Given the description of an element on the screen output the (x, y) to click on. 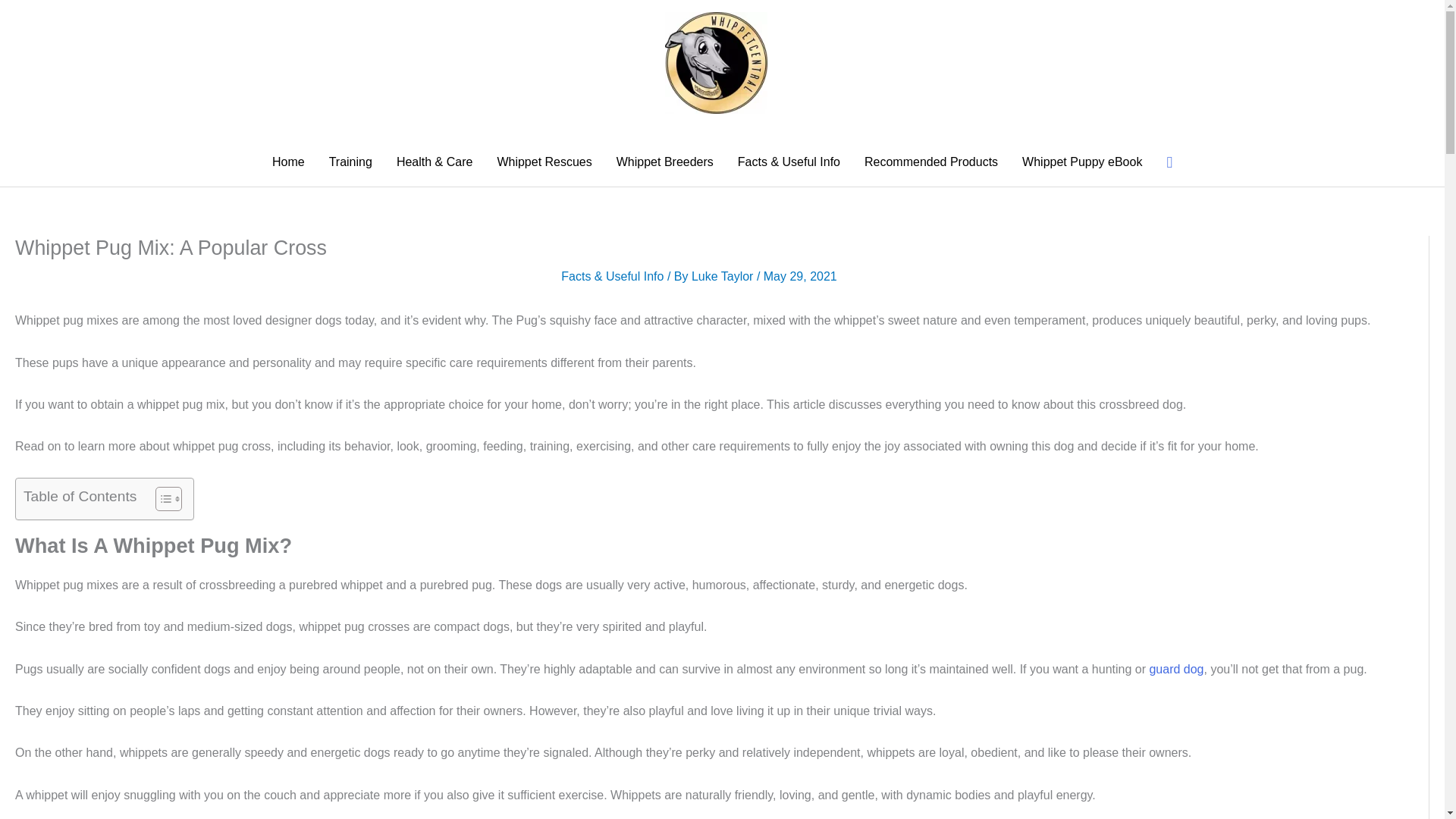
Luke Taylor (724, 276)
Whippet Rescues (544, 162)
Whippet Breeders (664, 162)
View all posts by Luke Taylor (724, 276)
Training (350, 162)
Recommended Products (930, 162)
guard dog (1176, 668)
Whippet Puppy eBook (1082, 162)
Home (288, 162)
